Given the description of an element on the screen output the (x, y) to click on. 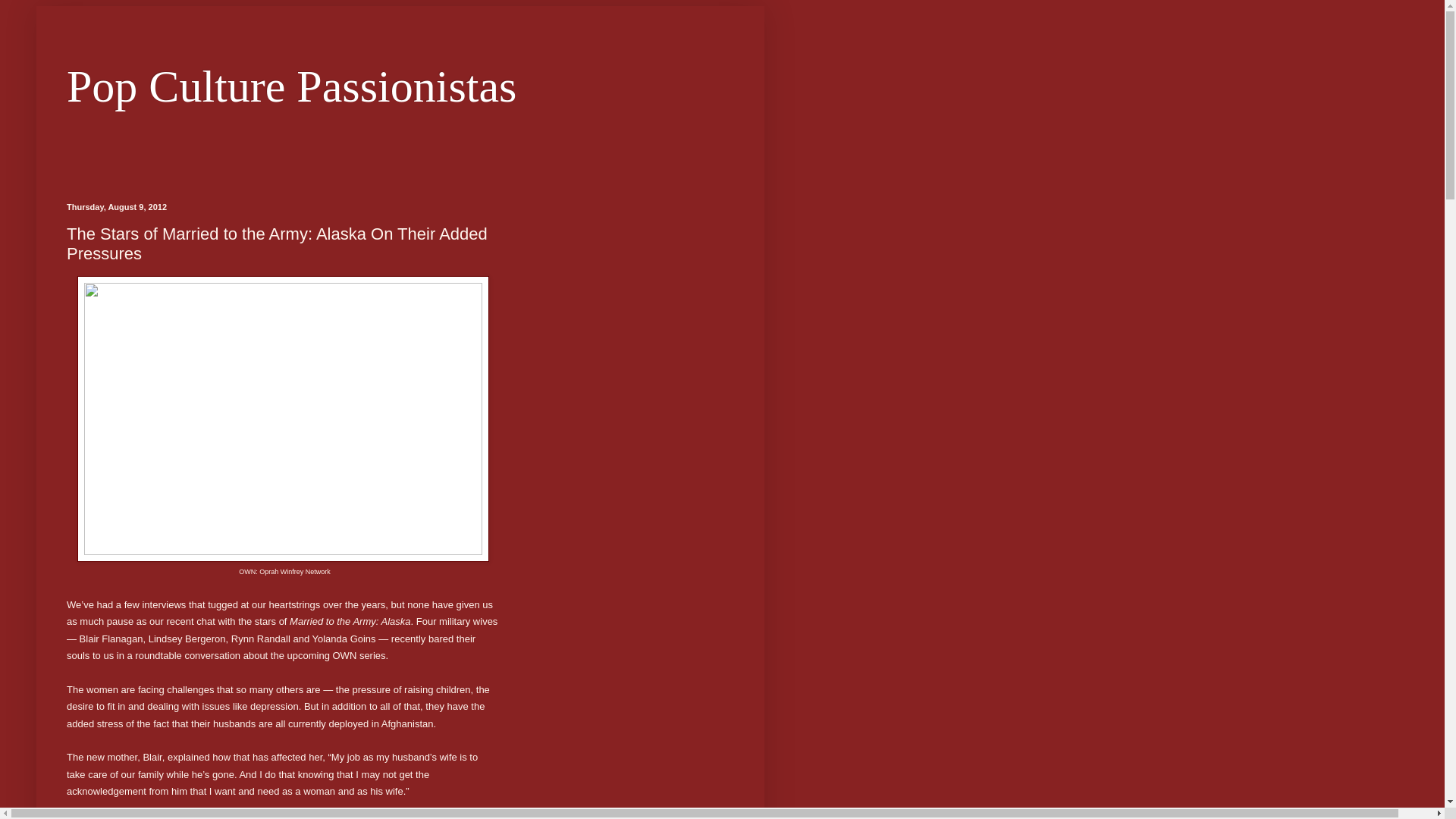
Pop Culture Passionistas (291, 86)
